Given the description of an element on the screen output the (x, y) to click on. 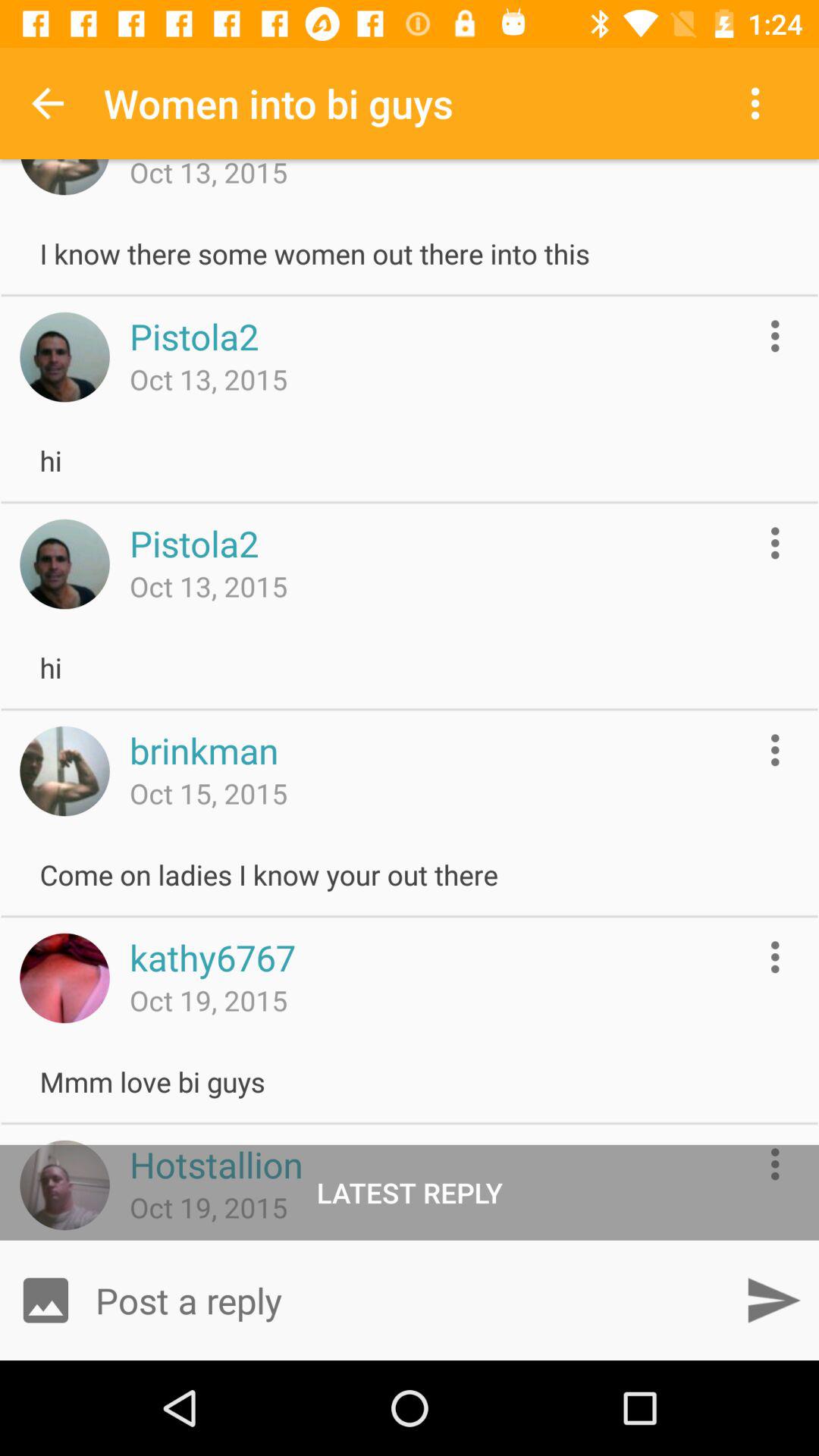
open the item next to the women into bi (47, 103)
